Given the description of an element on the screen output the (x, y) to click on. 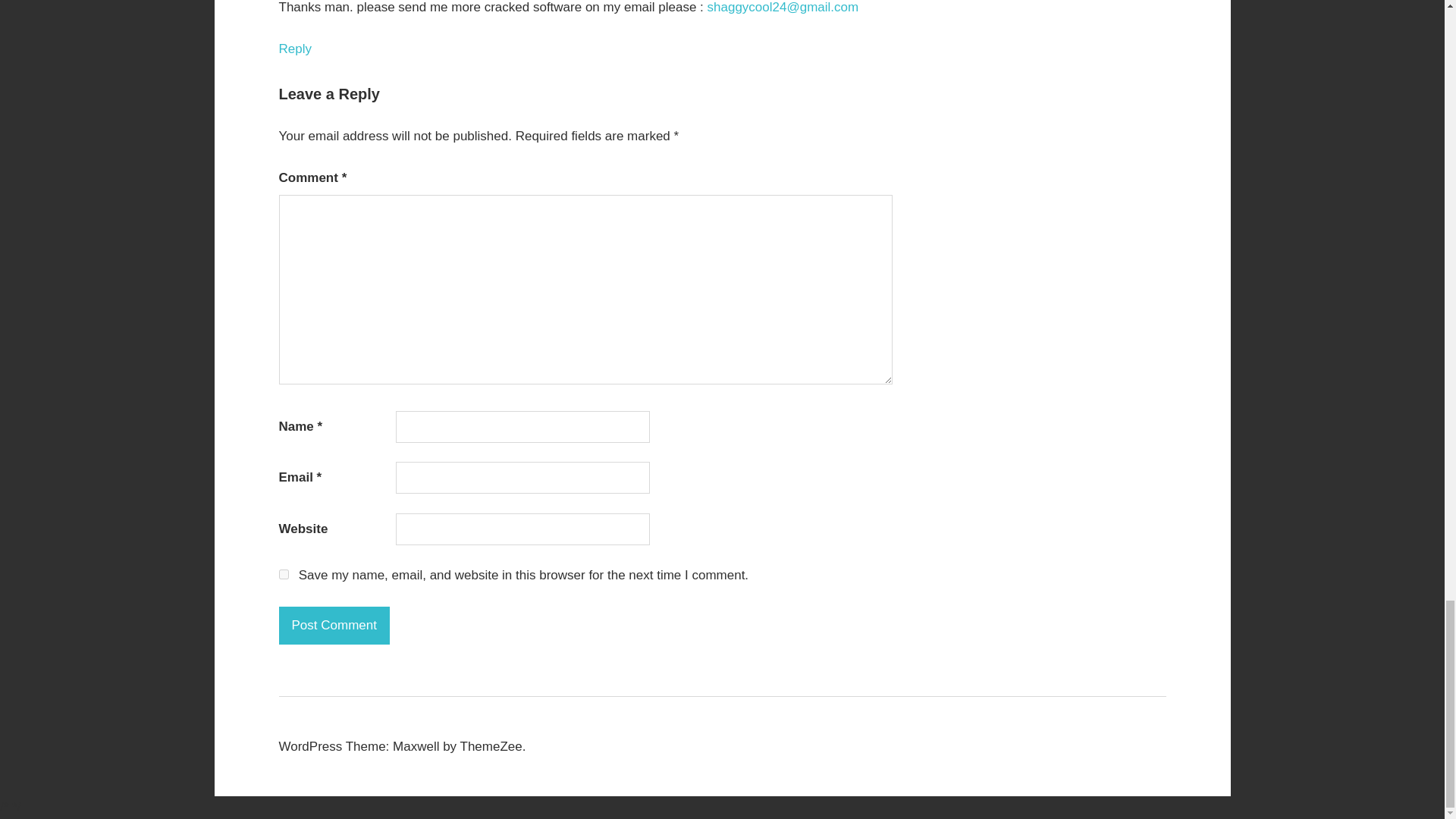
yes (283, 574)
Reply (295, 48)
Post Comment (334, 624)
